Given the description of an element on the screen output the (x, y) to click on. 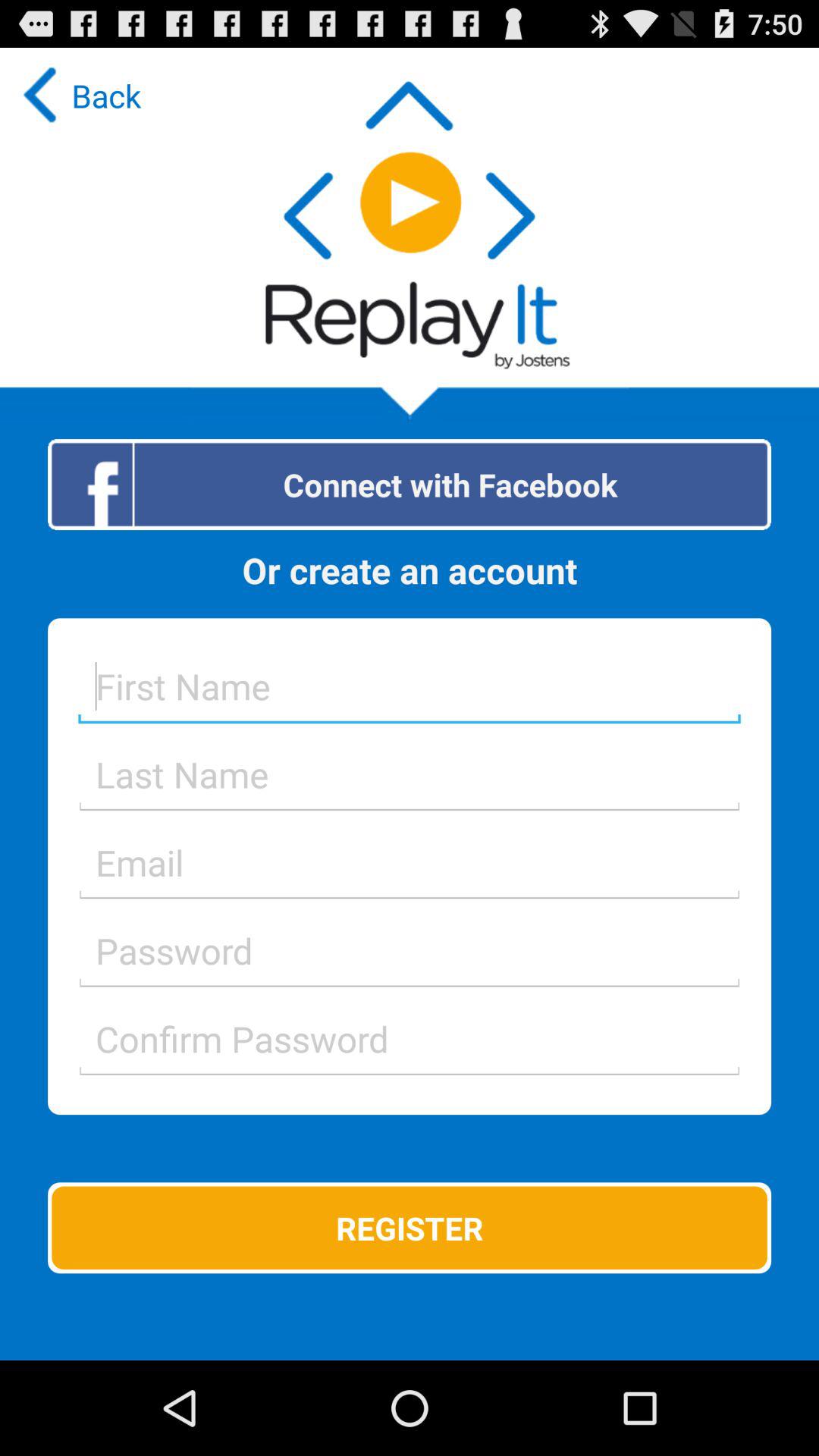
select app at the top left corner (78, 95)
